Given the description of an element on the screen output the (x, y) to click on. 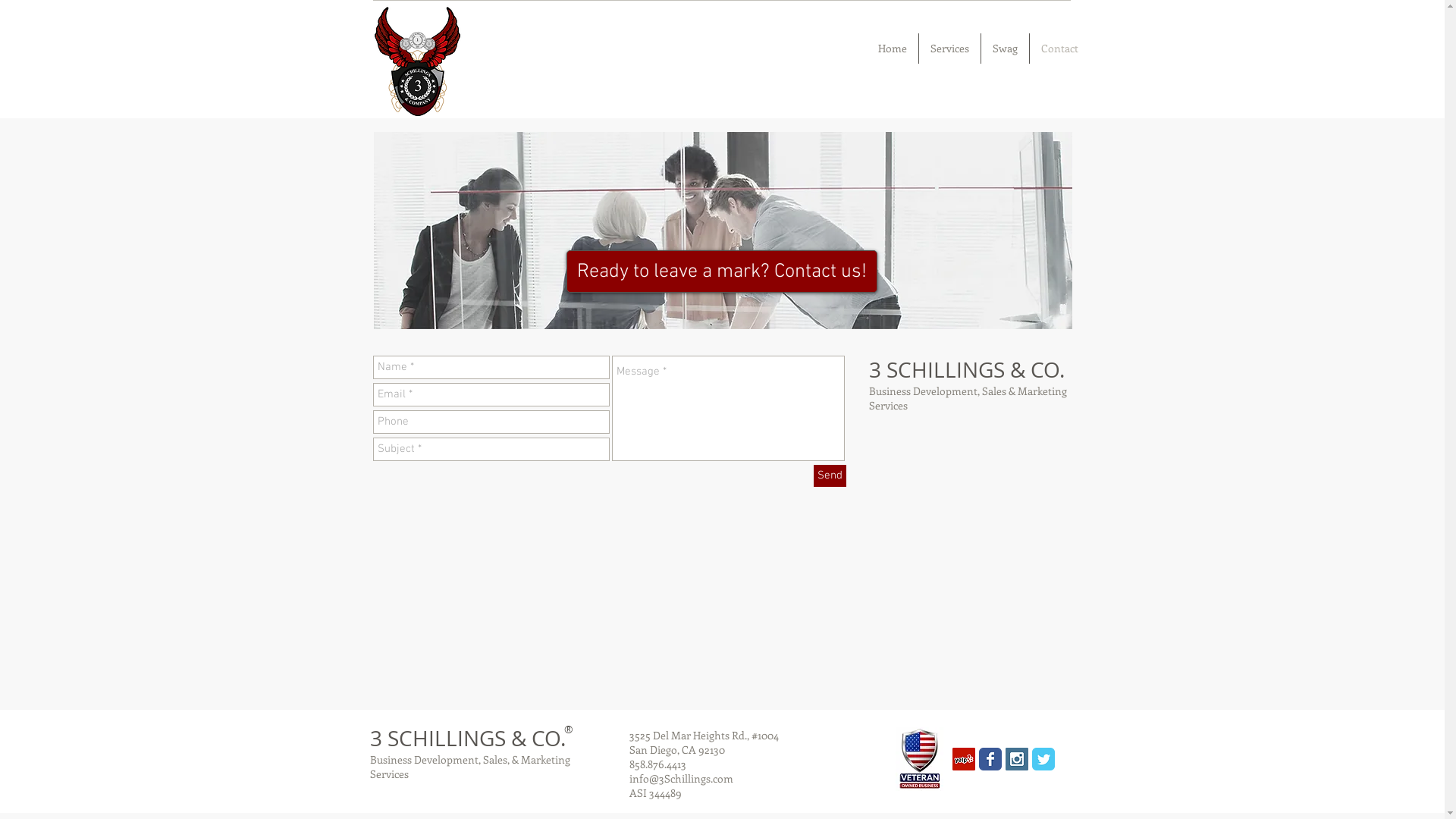
Services Element type: text (949, 48)
Send Element type: text (828, 475)
Contact Element type: text (1059, 48)
logo3.png Element type: hover (417, 61)
Home Element type: text (891, 48)
Swag Element type: text (1005, 48)
info@3Schillings.com Element type: text (681, 778)
Google Maps Element type: hover (721, 610)
